Given the description of an element on the screen output the (x, y) to click on. 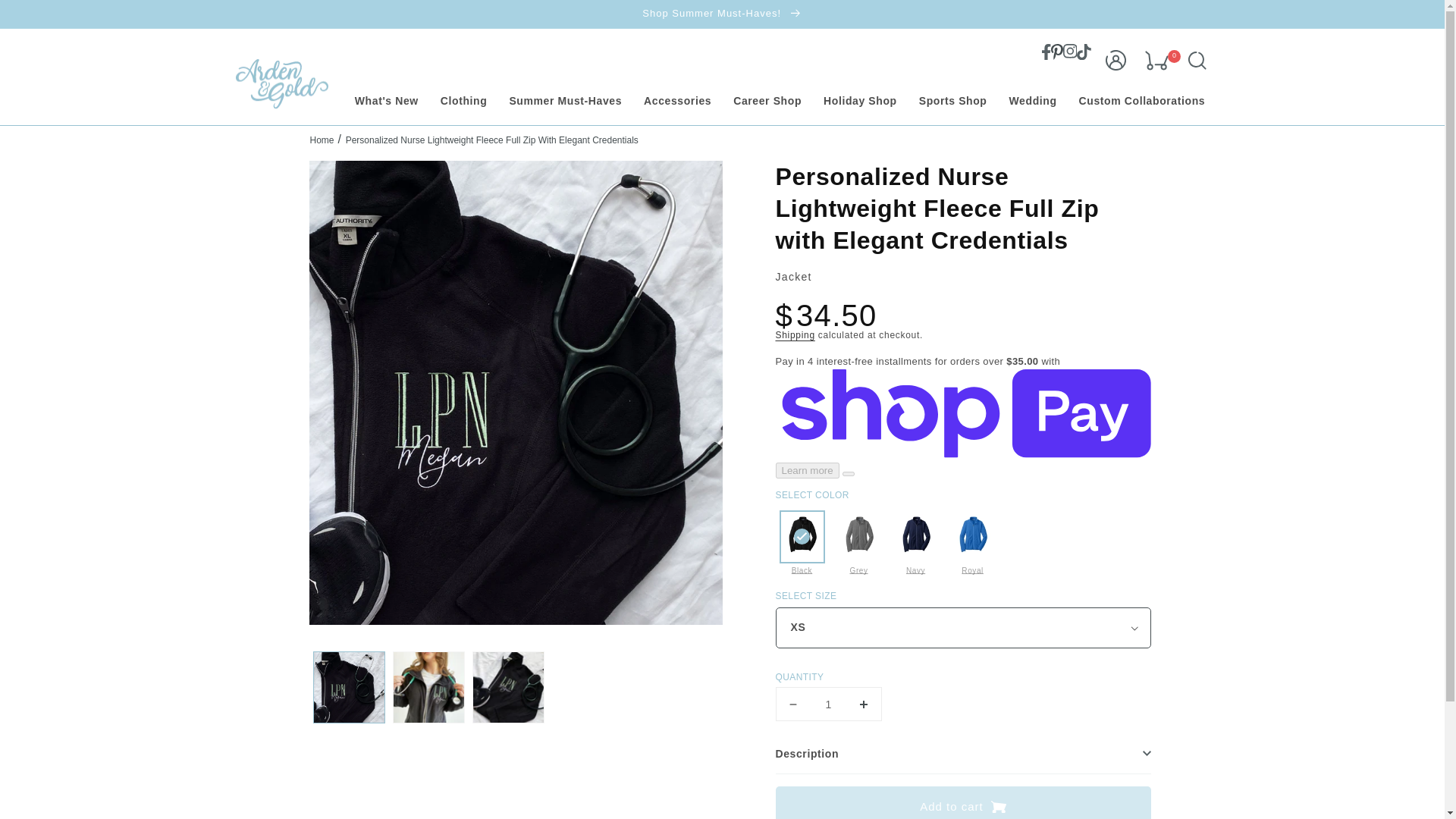
Skip to content (45, 16)
1 (827, 703)
